Given the description of an element on the screen output the (x, y) to click on. 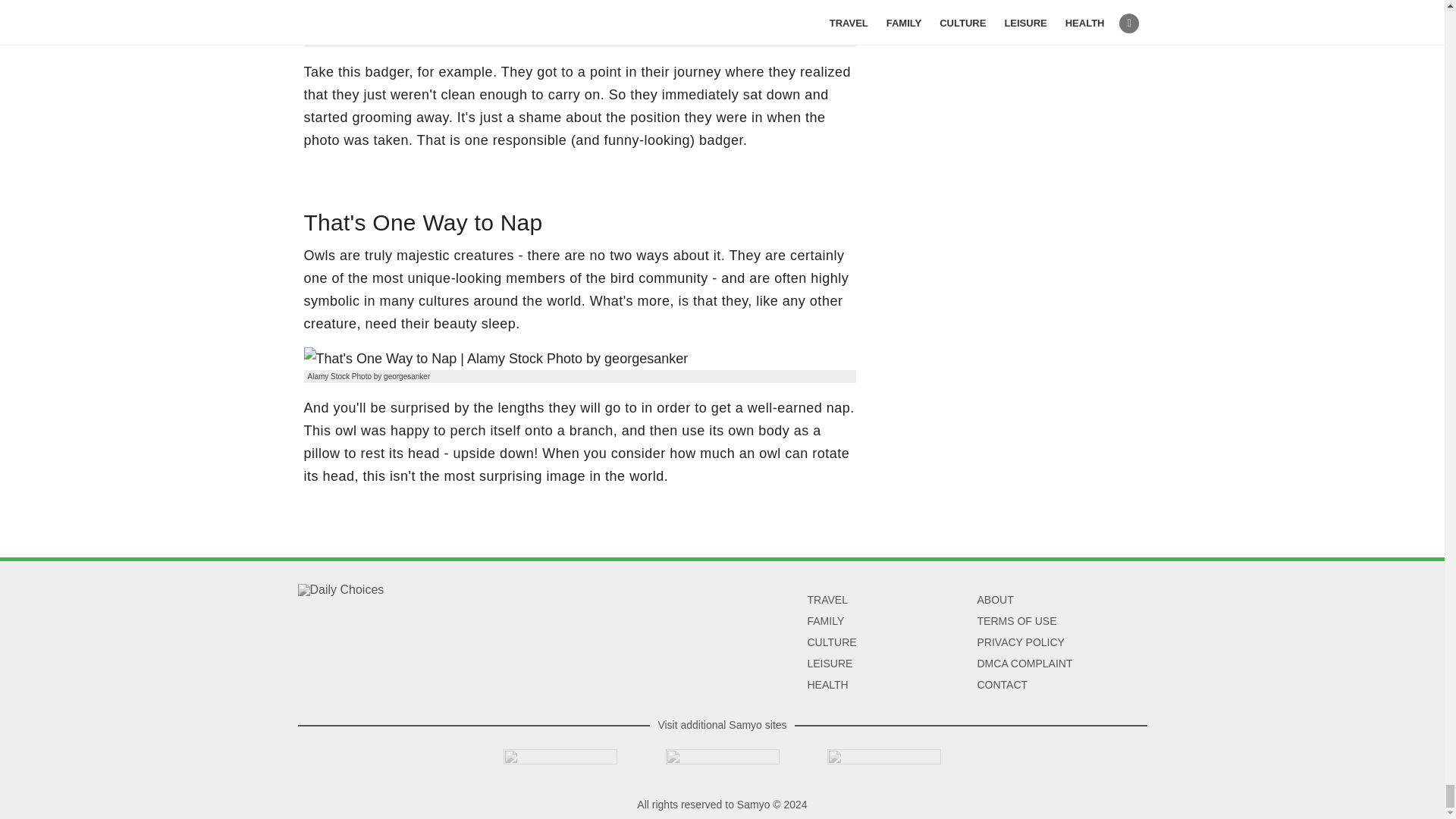
TRAVEL (826, 599)
ABOUT (994, 599)
TERMS OF USE (1016, 621)
DMCA COMPLAINT (1023, 663)
LEISURE (828, 663)
HEALTH (826, 684)
CONTACT (1001, 684)
PRIVACY POLICY (1020, 642)
CULTURE (831, 642)
FAMILY (825, 621)
